Given the description of an element on the screen output the (x, y) to click on. 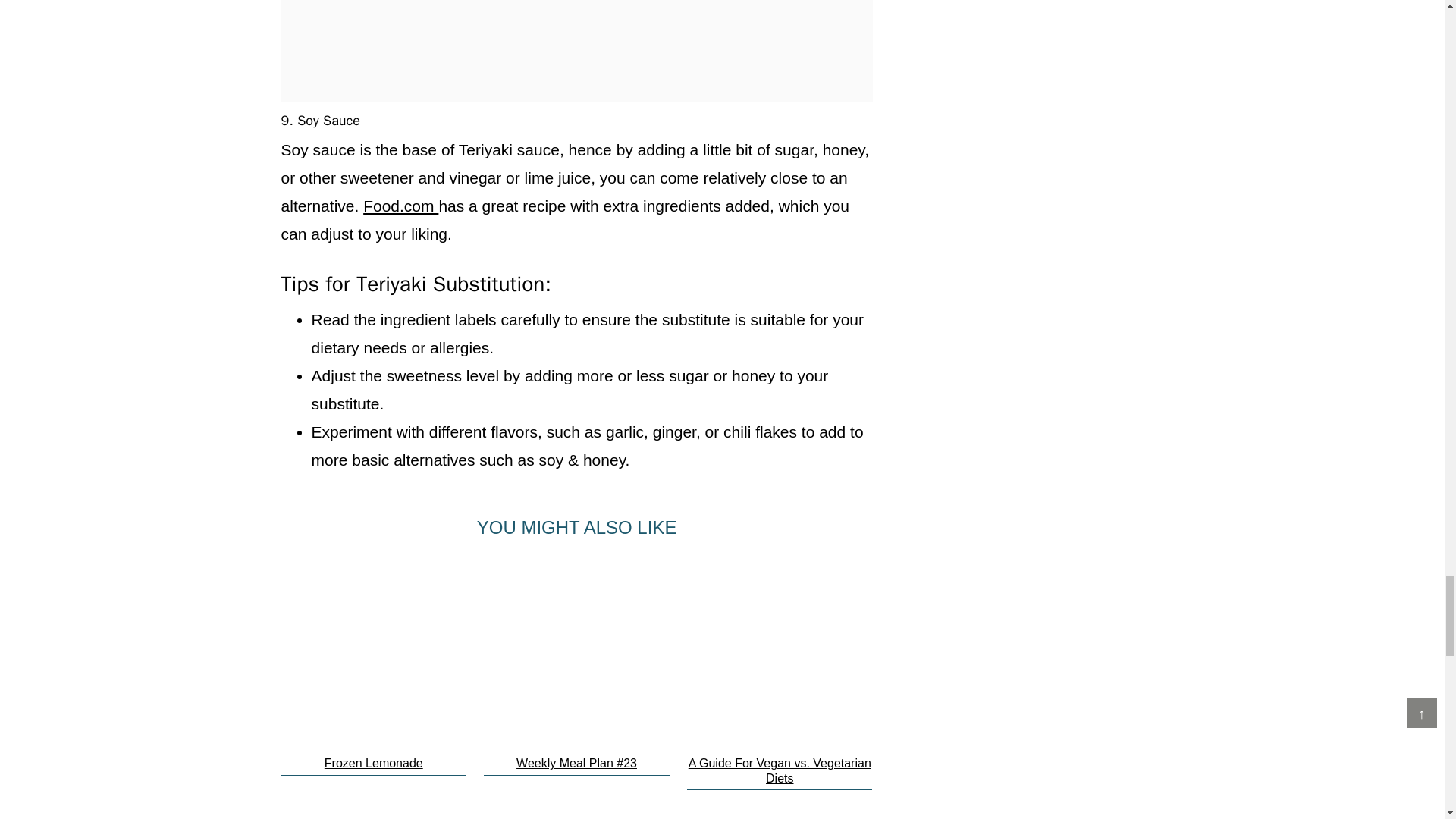
Orange and Pecan Bundt Cake (575, 813)
Food.com (400, 205)
8 Best Arugula Substitute Options (373, 813)
